Given the description of an element on the screen output the (x, y) to click on. 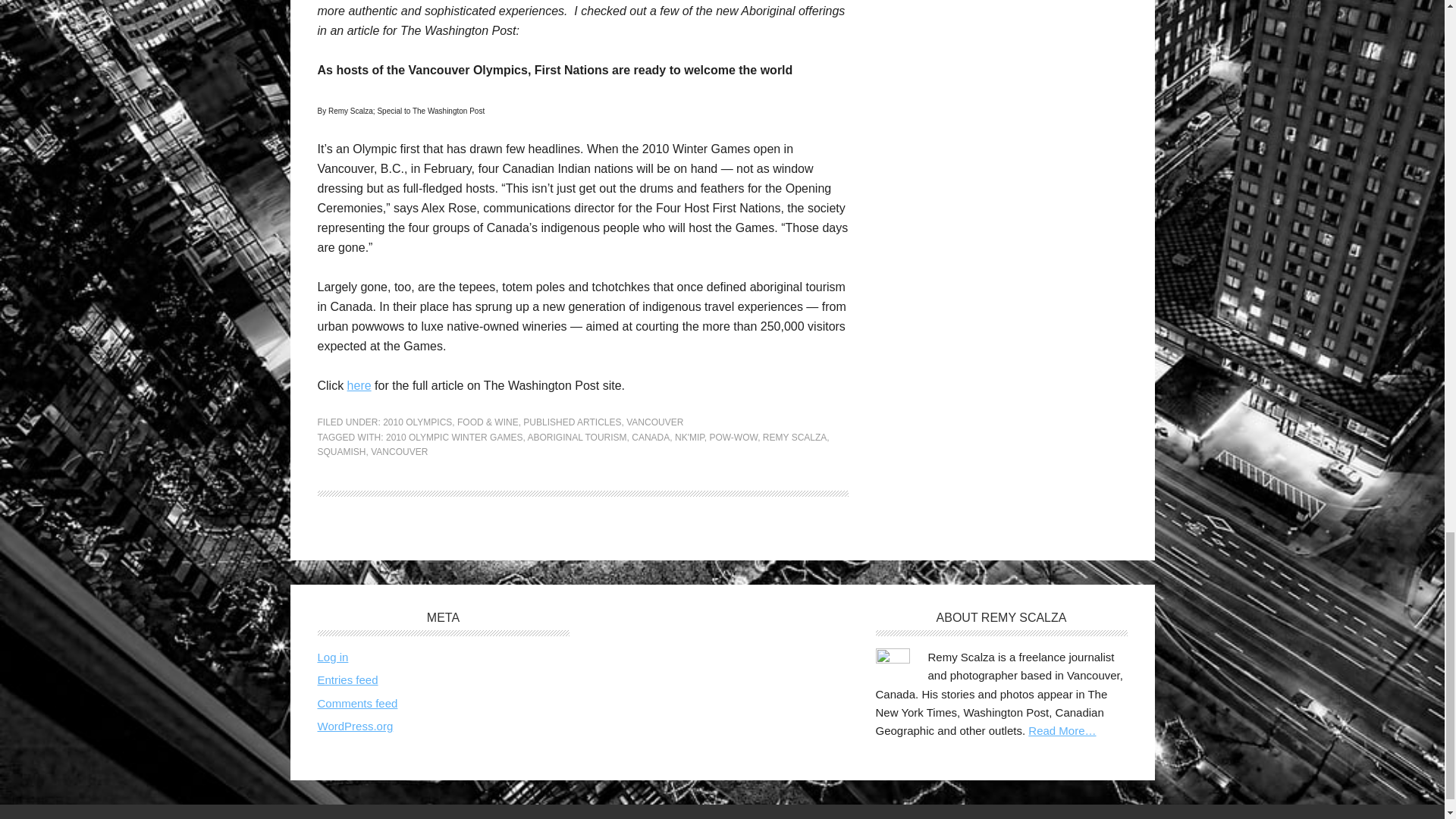
ABORIGINAL TOURISM (576, 437)
NK'MIP (689, 437)
SQUAMISH (341, 451)
here (359, 385)
PUBLISHED ARTICLES (571, 421)
2010 OLYMPIC WINTER GAMES (453, 437)
POW-WOW (733, 437)
VANCOUVER (399, 451)
CANADA (650, 437)
2010 OLYMPICS (416, 421)
VANCOUVER (654, 421)
REMY SCALZA (794, 437)
